Given the description of an element on the screen output the (x, y) to click on. 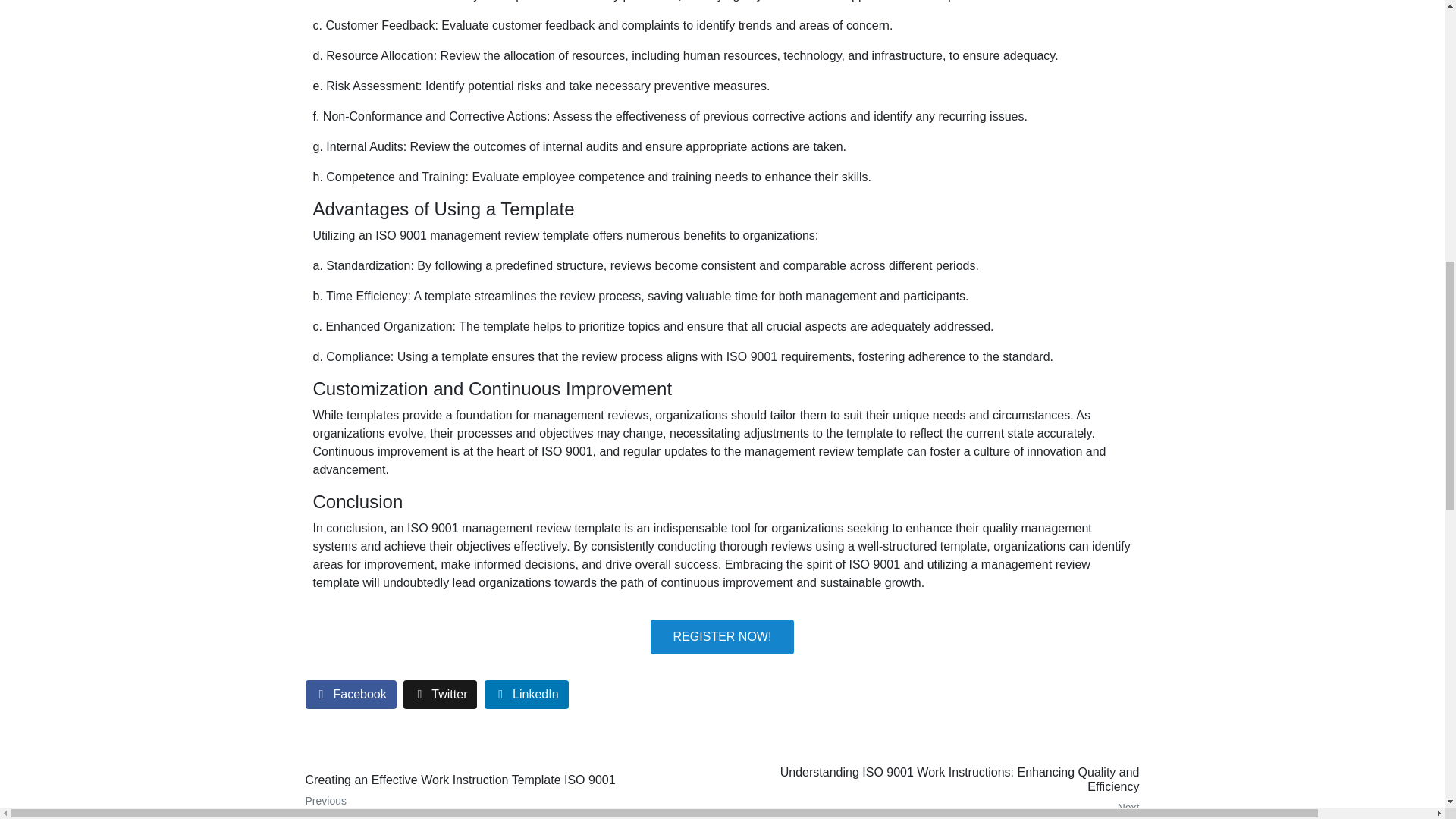
Creating an Effective Work Instruction Template ISO 9001 (508, 789)
